Given the description of an element on the screen output the (x, y) to click on. 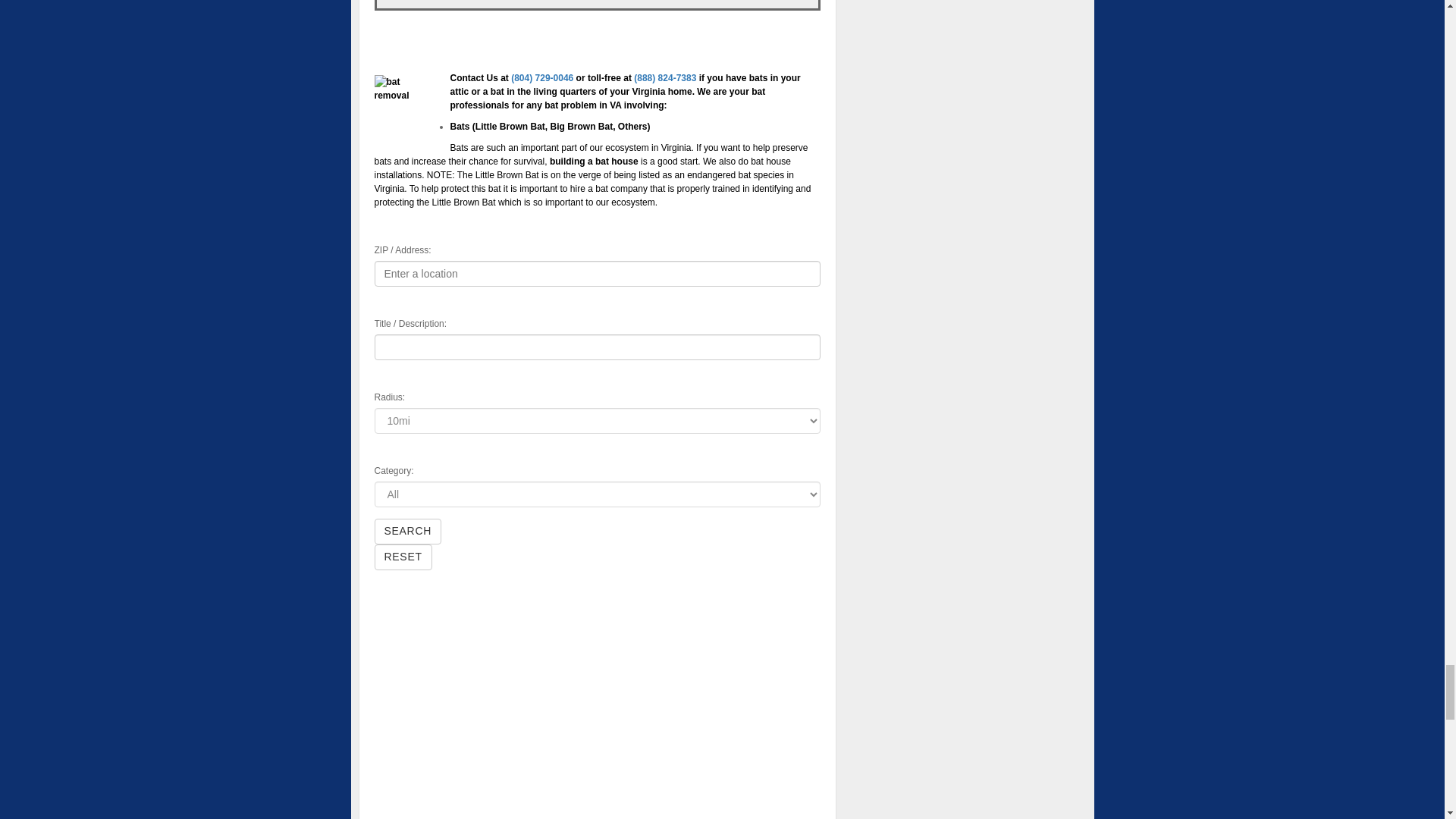
Reset (403, 557)
Search (408, 531)
Search (408, 531)
